Given the description of an element on the screen output the (x, y) to click on. 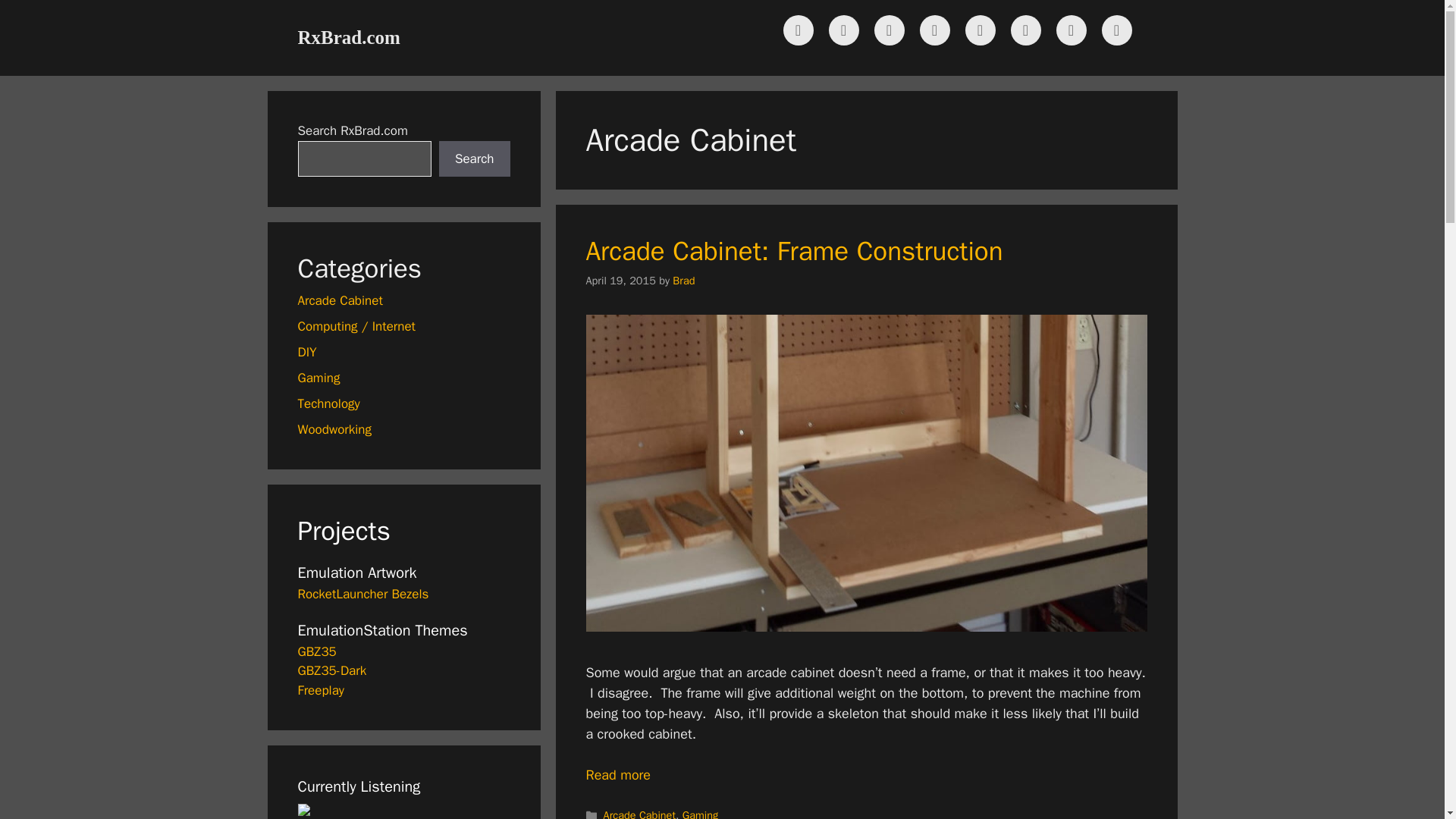
Arcade Cabinet: Frame Construction (794, 250)
Brad (683, 280)
Read more (617, 774)
Gaming (700, 813)
RxBrad.com (347, 37)
View all posts by Brad (683, 280)
Arcade Cabinet: Frame Construction (617, 774)
Arcade Cabinet (639, 813)
